Given the description of an element on the screen output the (x, y) to click on. 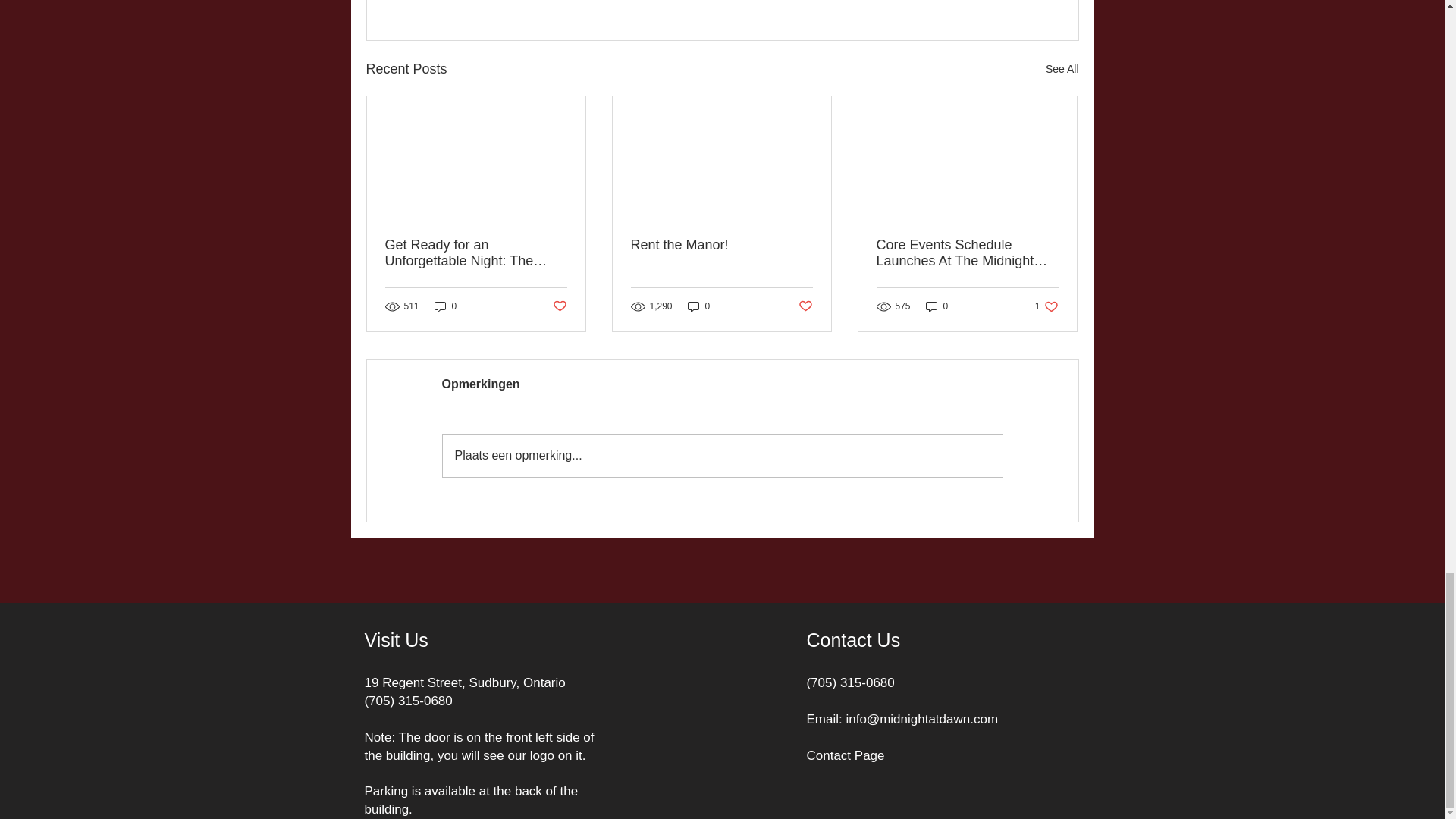
Rent the Manor! (1046, 306)
Post not marked as liked (721, 245)
0 (558, 306)
Plaats een opmerking... (698, 306)
0 (722, 455)
See All (937, 306)
Post not marked as liked (1061, 69)
Core Events Schedule Launches At The Midnight Manor (804, 306)
Contact Page (967, 253)
0 (845, 755)
